Given the description of an element on the screen output the (x, y) to click on. 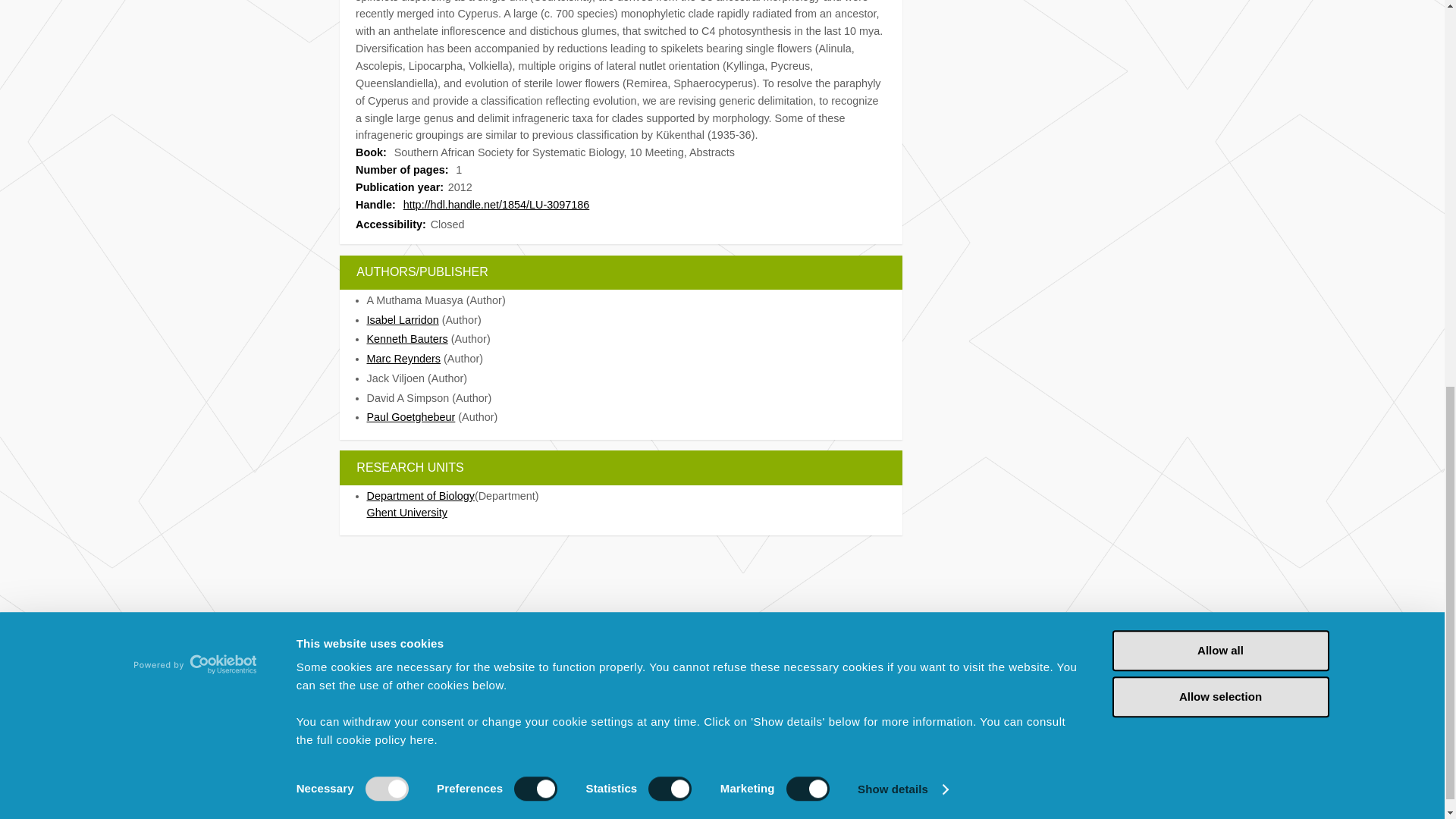
Learn more about the data providers of the FRIS project. (453, 714)
Check out our data about research projects in Flanders. (453, 742)
Show details (902, 42)
